Given the description of an element on the screen output the (x, y) to click on. 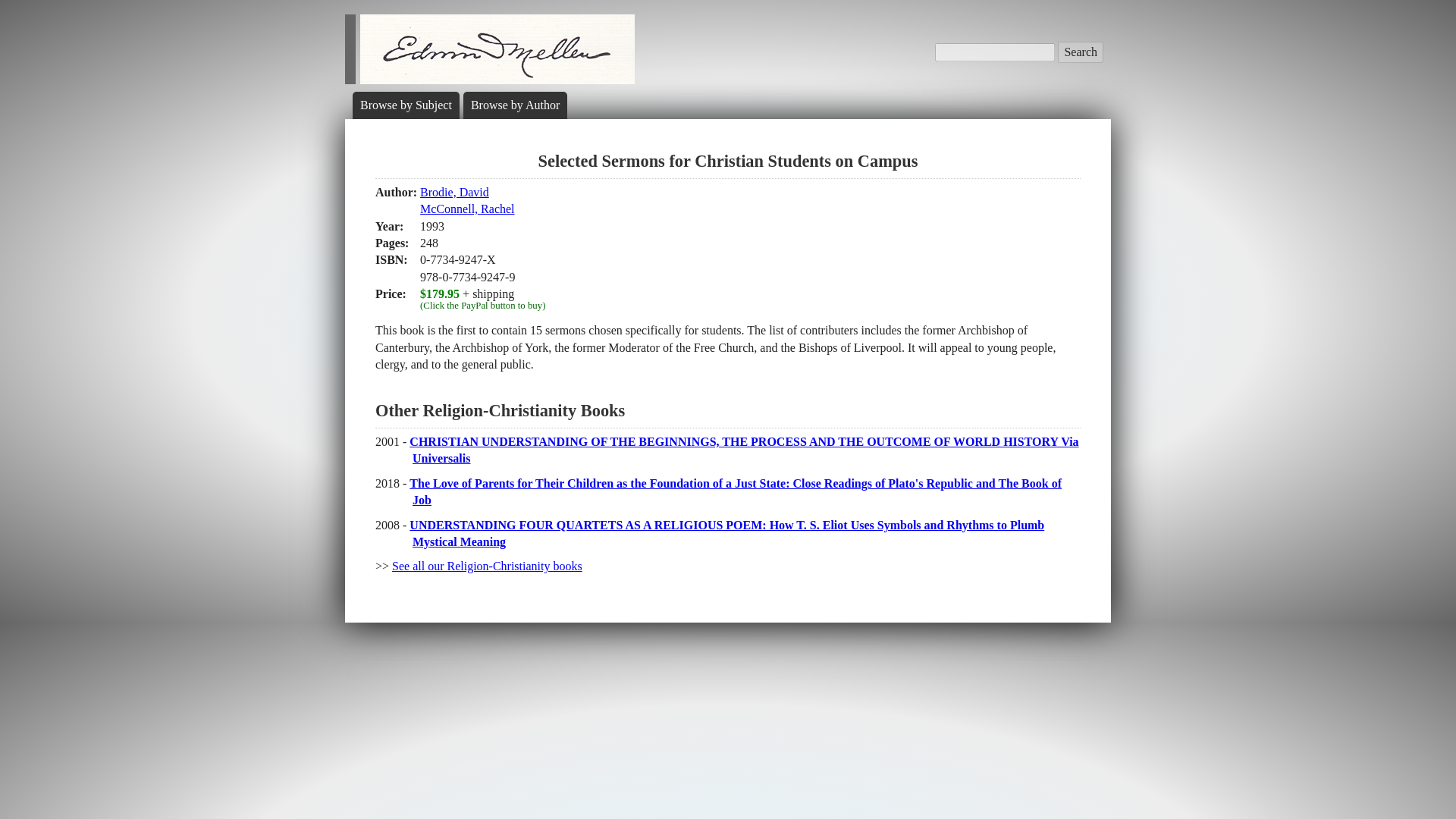
Browse by Subject (405, 105)
Browse by Author (466, 200)
See all our Religion-Christianity books (514, 105)
Search (486, 565)
